Given the description of an element on the screen output the (x, y) to click on. 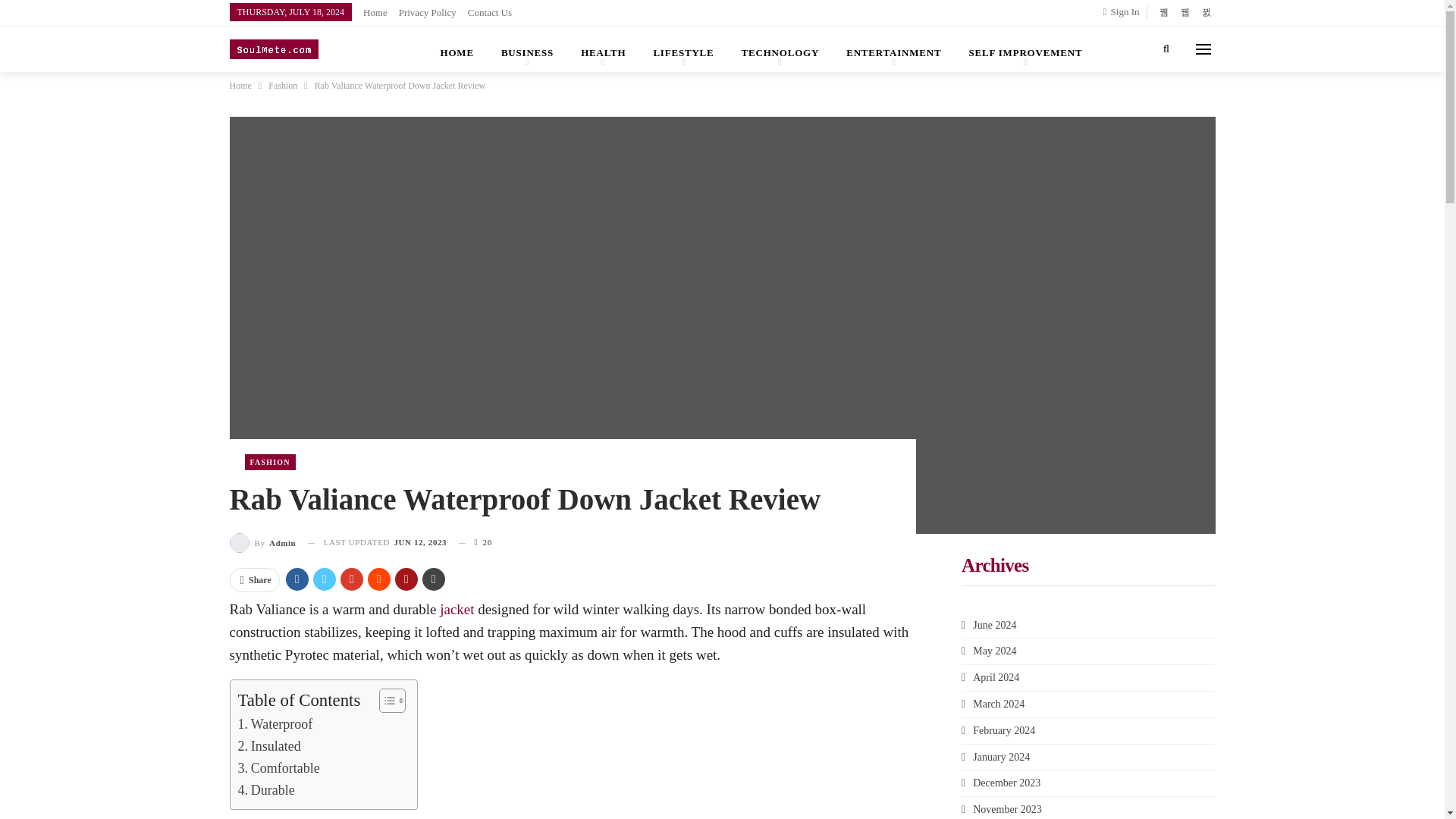
Durable (266, 790)
Sign In (1124, 12)
Home (374, 12)
BUSINESS (527, 49)
LIFESTYLE (682, 49)
Contact Us (489, 12)
TECHNOLOGY (780, 49)
Browse Author Articles (261, 542)
Privacy Policy (427, 12)
Waterproof (275, 724)
Comfortable (279, 768)
HOME (456, 49)
Insulated (269, 746)
HEALTH (603, 49)
